Given the description of an element on the screen output the (x, y) to click on. 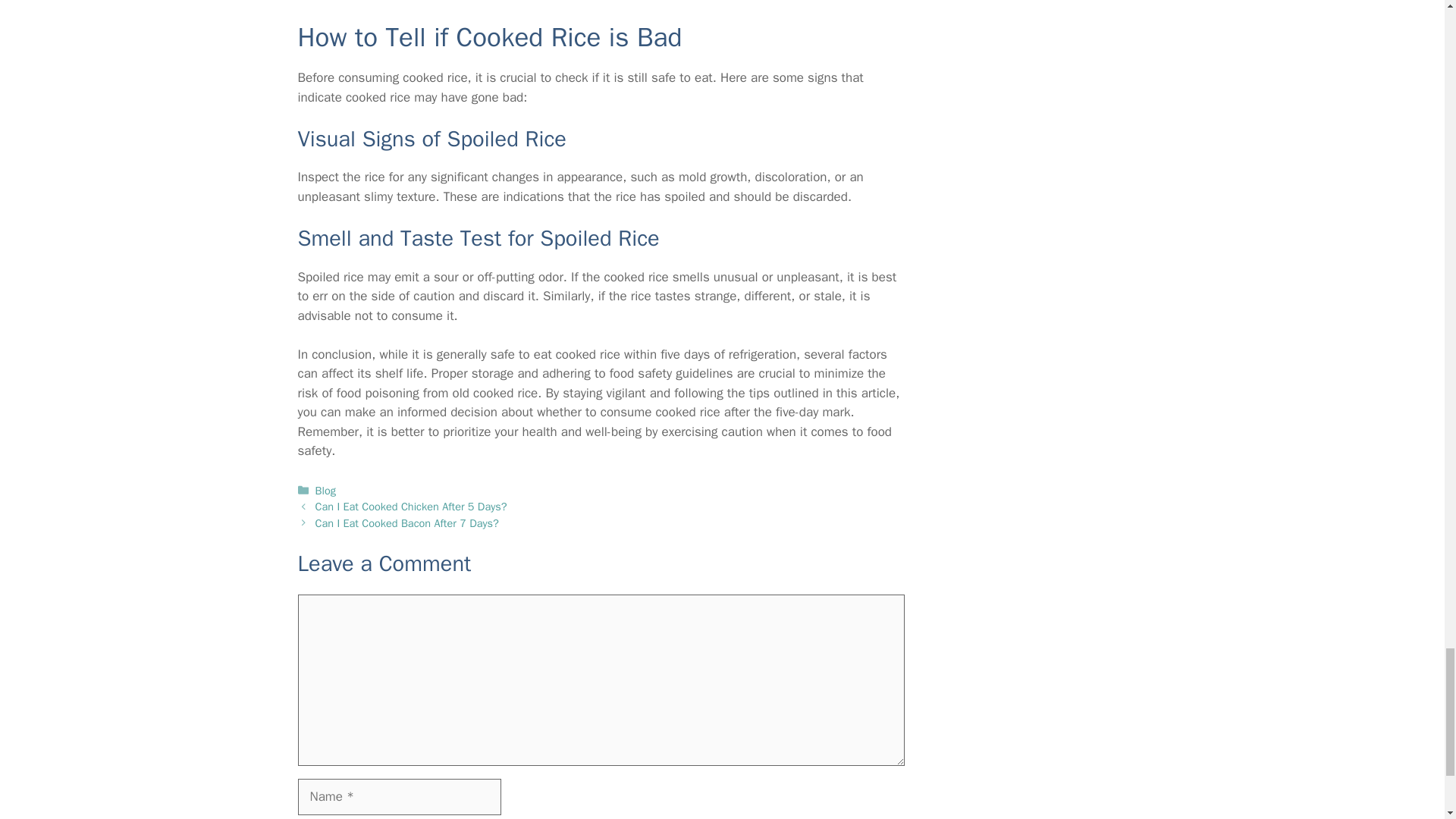
Blog (325, 490)
Can I Eat Cooked Chicken After 5 Days? (410, 506)
Can I Eat Cooked Bacon After 7 Days? (407, 522)
